Given the description of an element on the screen output the (x, y) to click on. 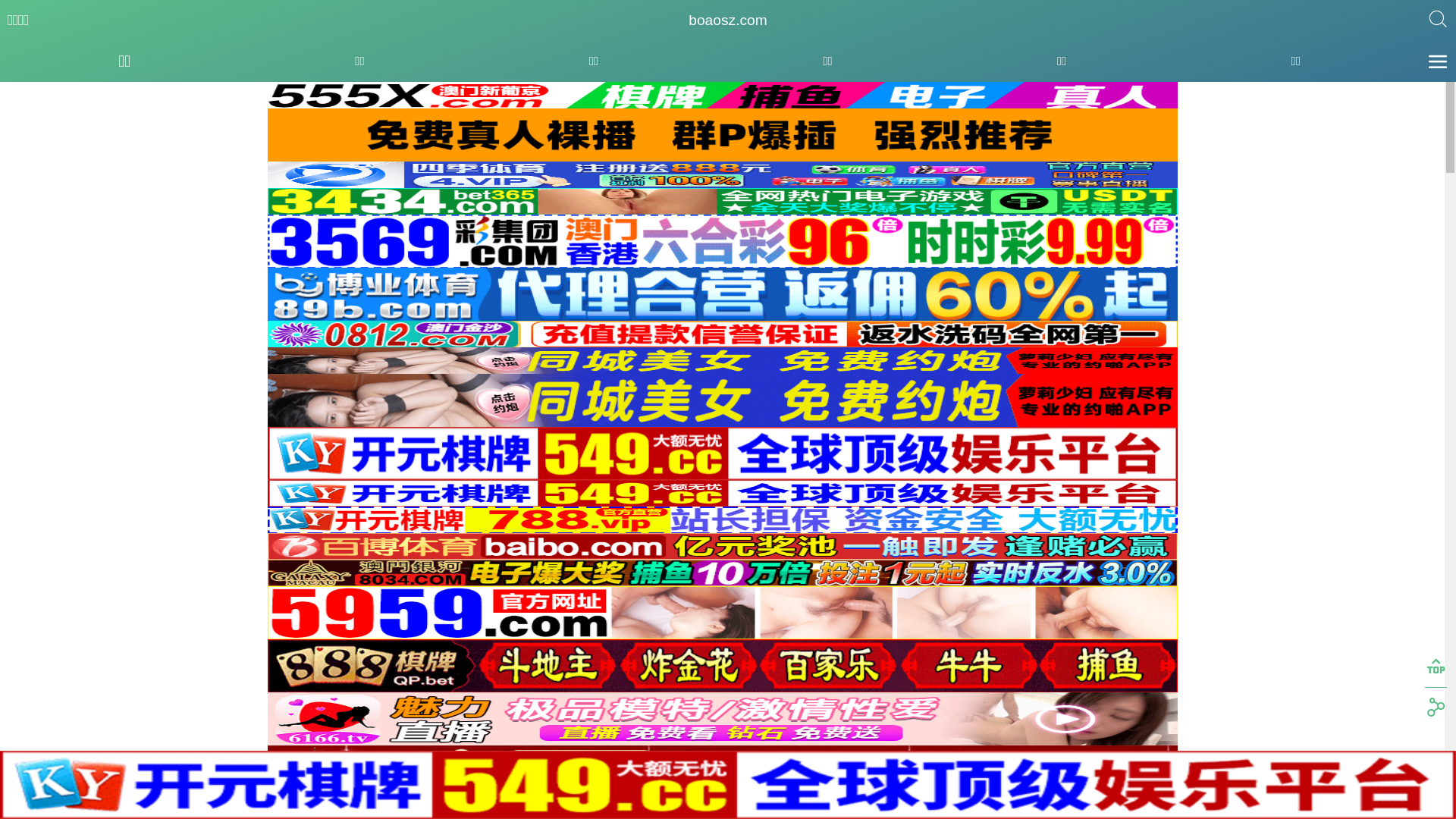
boaosz.com Element type: text (727, 20)
